Given the description of an element on the screen output the (x, y) to click on. 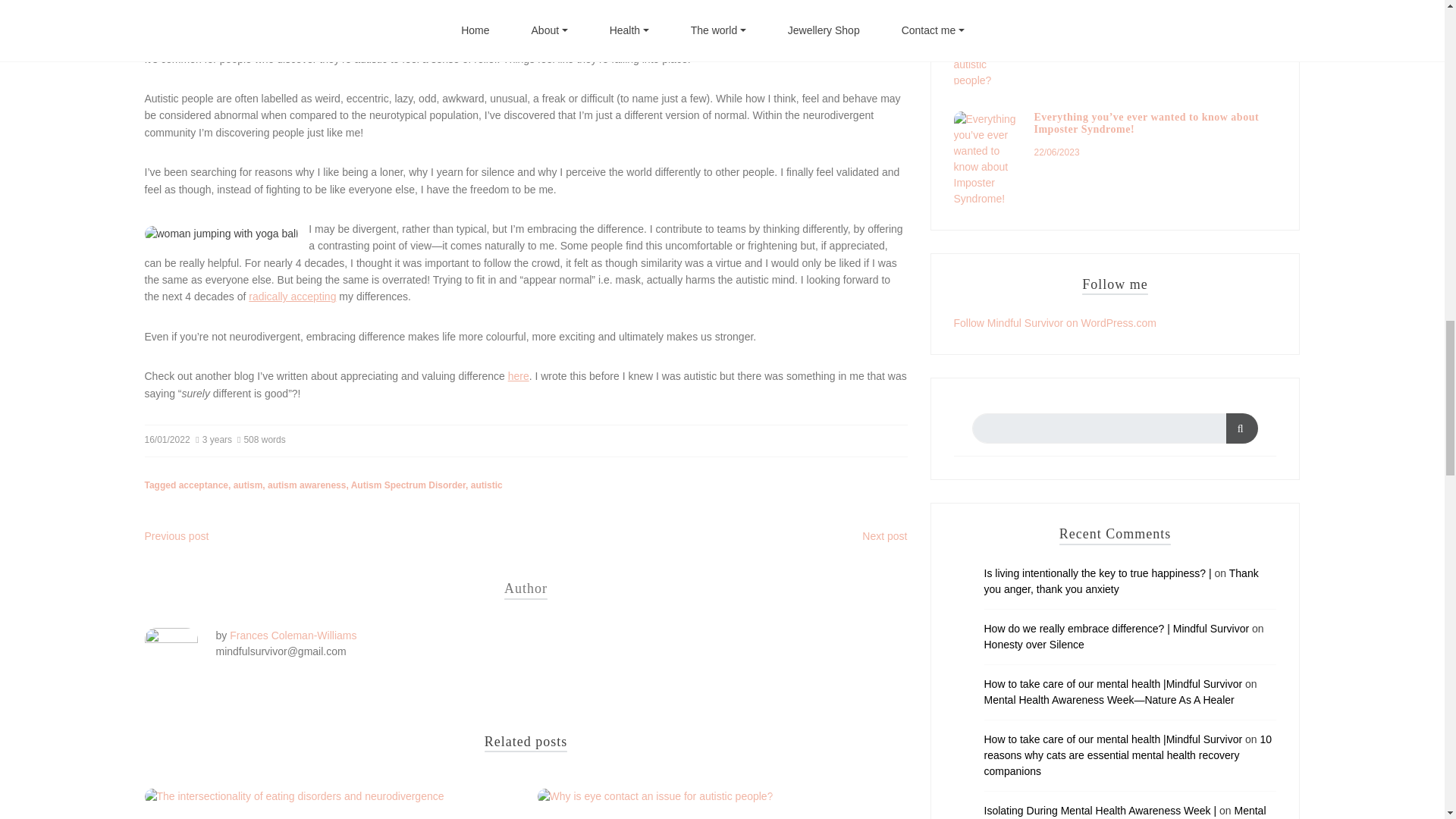
Autism Spectrum Disorder (407, 484)
autistic (486, 484)
autism awareness (306, 484)
here (518, 376)
autism (247, 484)
acceptance (203, 484)
Previous post (176, 535)
Next post (884, 535)
Frances Coleman-Williams (293, 635)
